Given the description of an element on the screen output the (x, y) to click on. 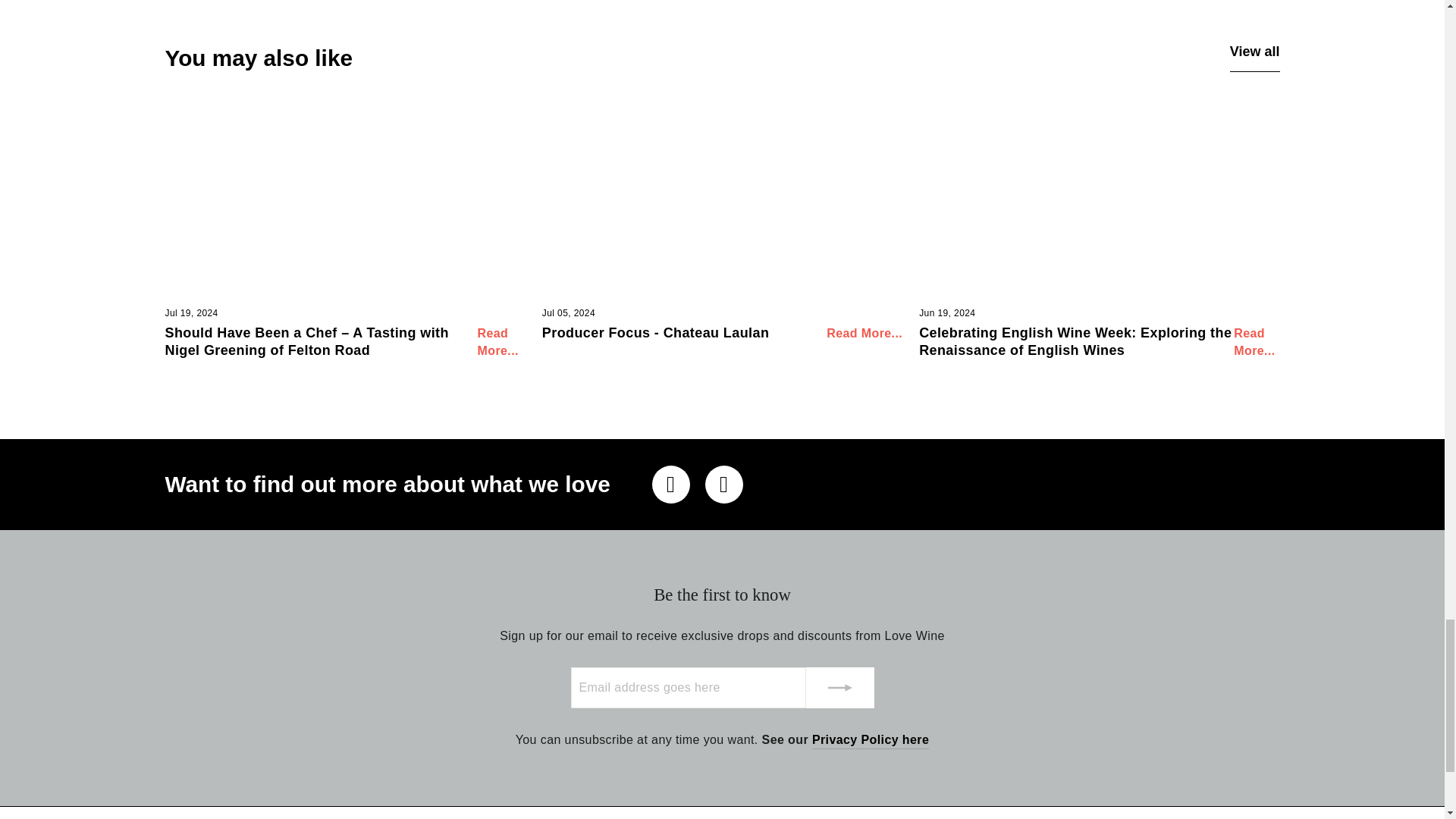
Privacy Policy (870, 740)
